Given the description of an element on the screen output the (x, y) to click on. 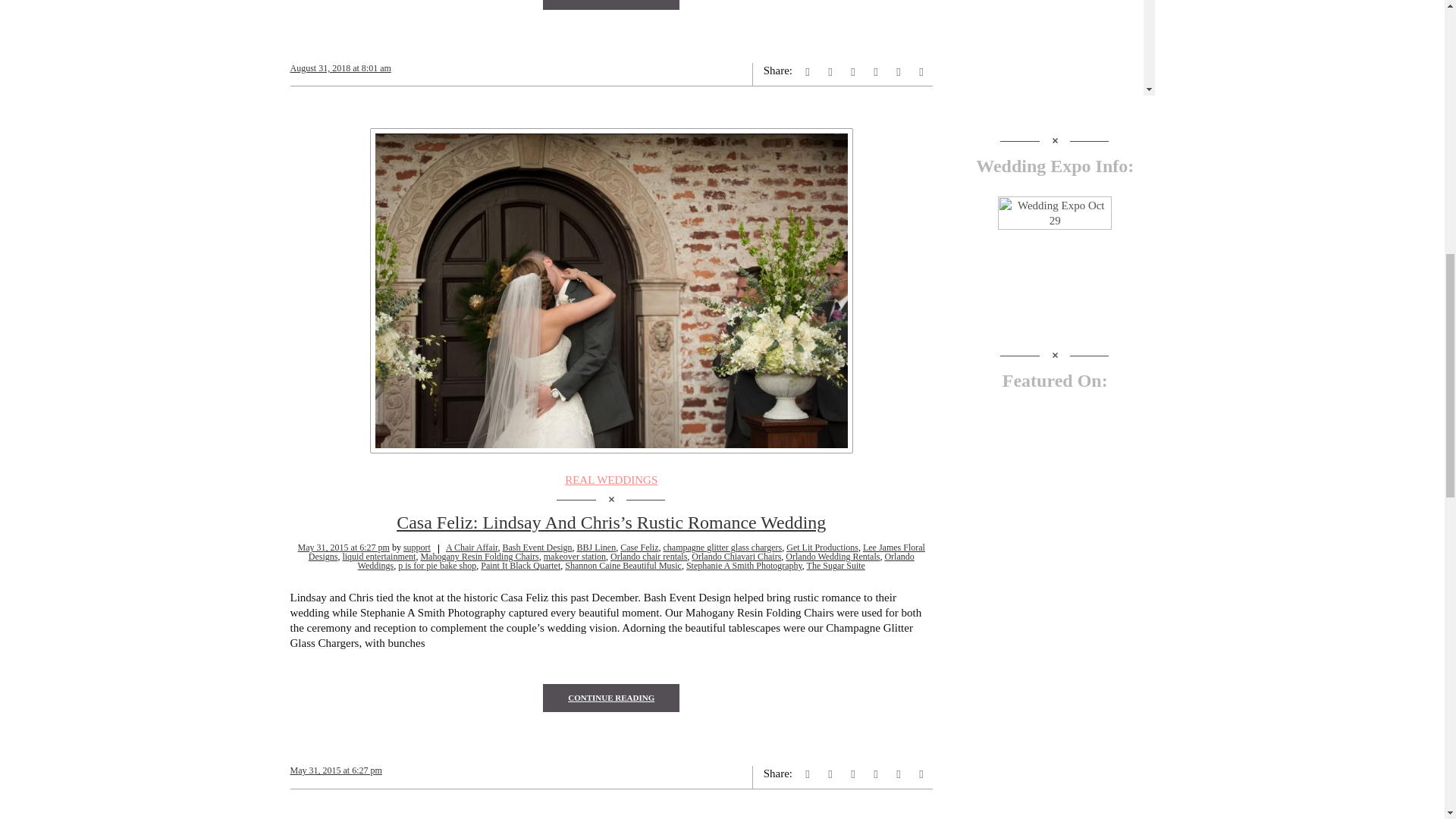
Google Plus (829, 773)
Twitter (852, 773)
Pinterest (875, 773)
Facebook (807, 773)
E-Mail (921, 773)
Google Plus (829, 70)
Facebook (807, 70)
E-Mail (921, 70)
Twitter (852, 70)
Pinterest (875, 70)
